Given the description of an element on the screen output the (x, y) to click on. 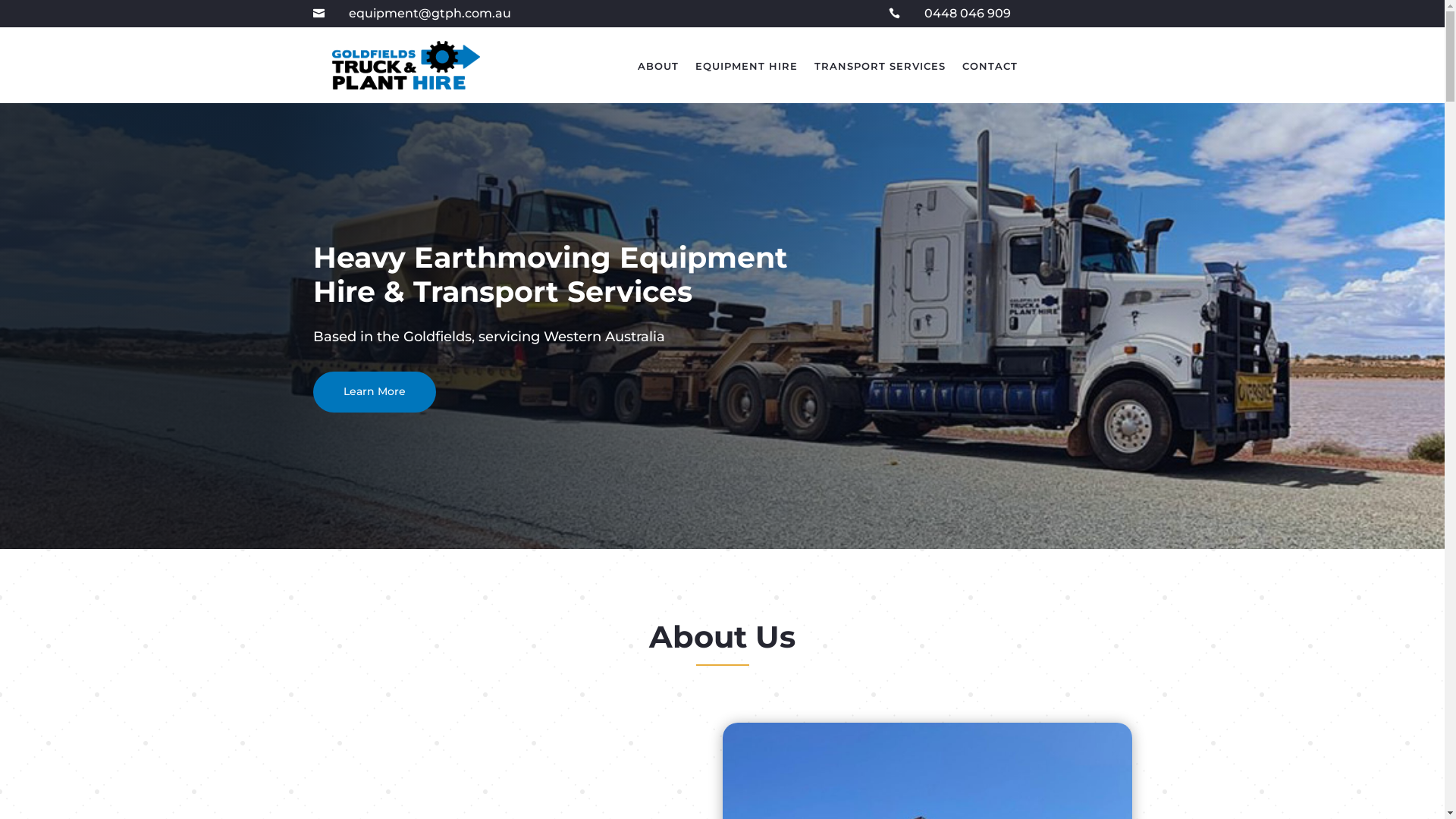
0448 046 909 Element type: text (967, 13)
equipment@gtph.com.au Element type: text (429, 13)
Learn More Element type: text (373, 391)
TRANSPORT SERVICES Element type: text (879, 68)
CONTACT Element type: text (989, 68)
Goldfields Truck & Plant Hire logo Element type: hover (406, 64)
EQUIPMENT HIRE Element type: text (746, 68)
ABOUT Element type: text (657, 68)
